Given the description of an element on the screen output the (x, y) to click on. 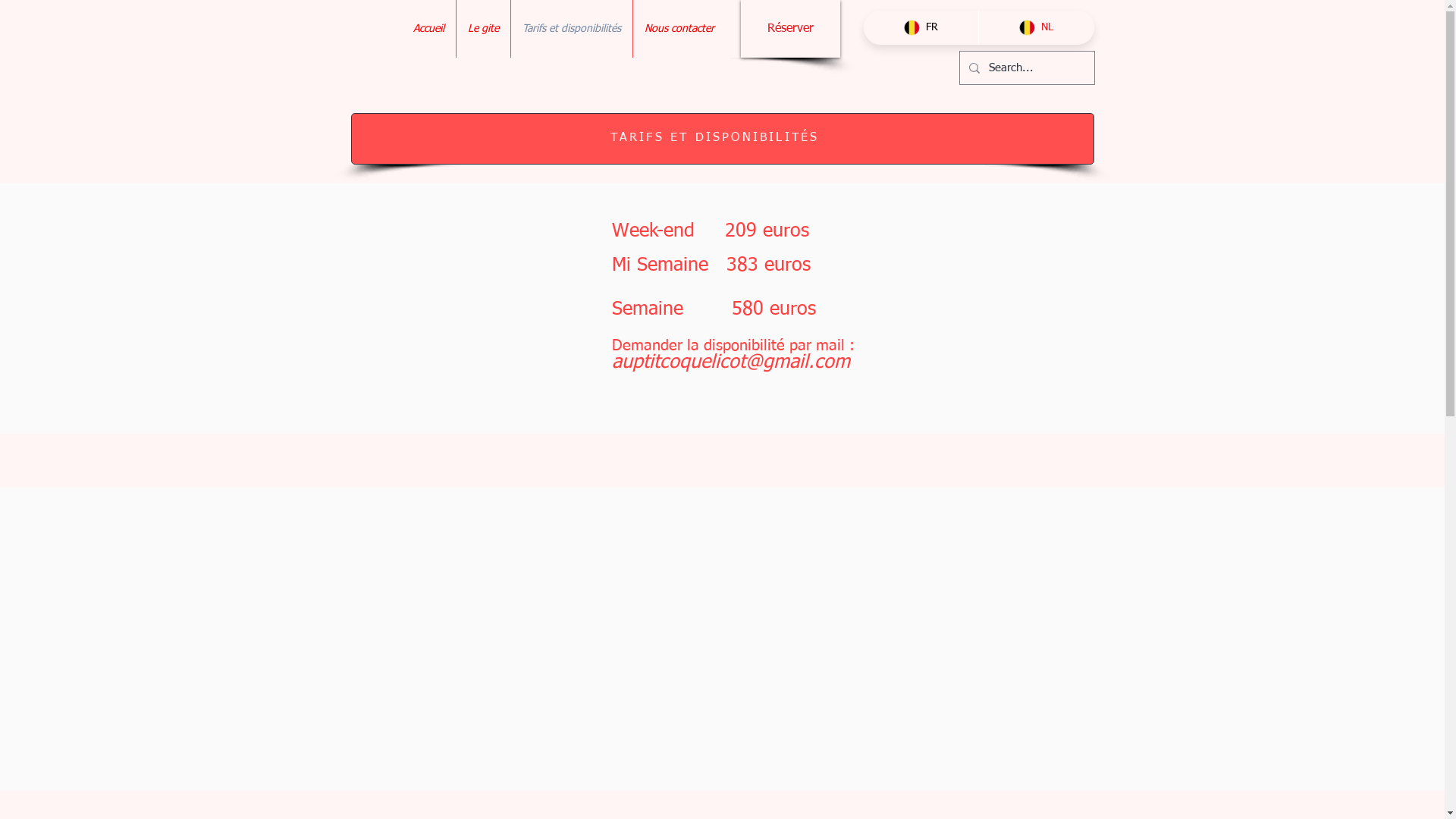
Accueil Element type: text (428, 28)
FR Element type: text (920, 27)
Le gite Element type: text (483, 28)
NL Element type: text (1036, 27)
Nous contacter Element type: text (678, 28)
auptitcoquelicot@gmail.com Element type: text (730, 362)
